Given the description of an element on the screen output the (x, y) to click on. 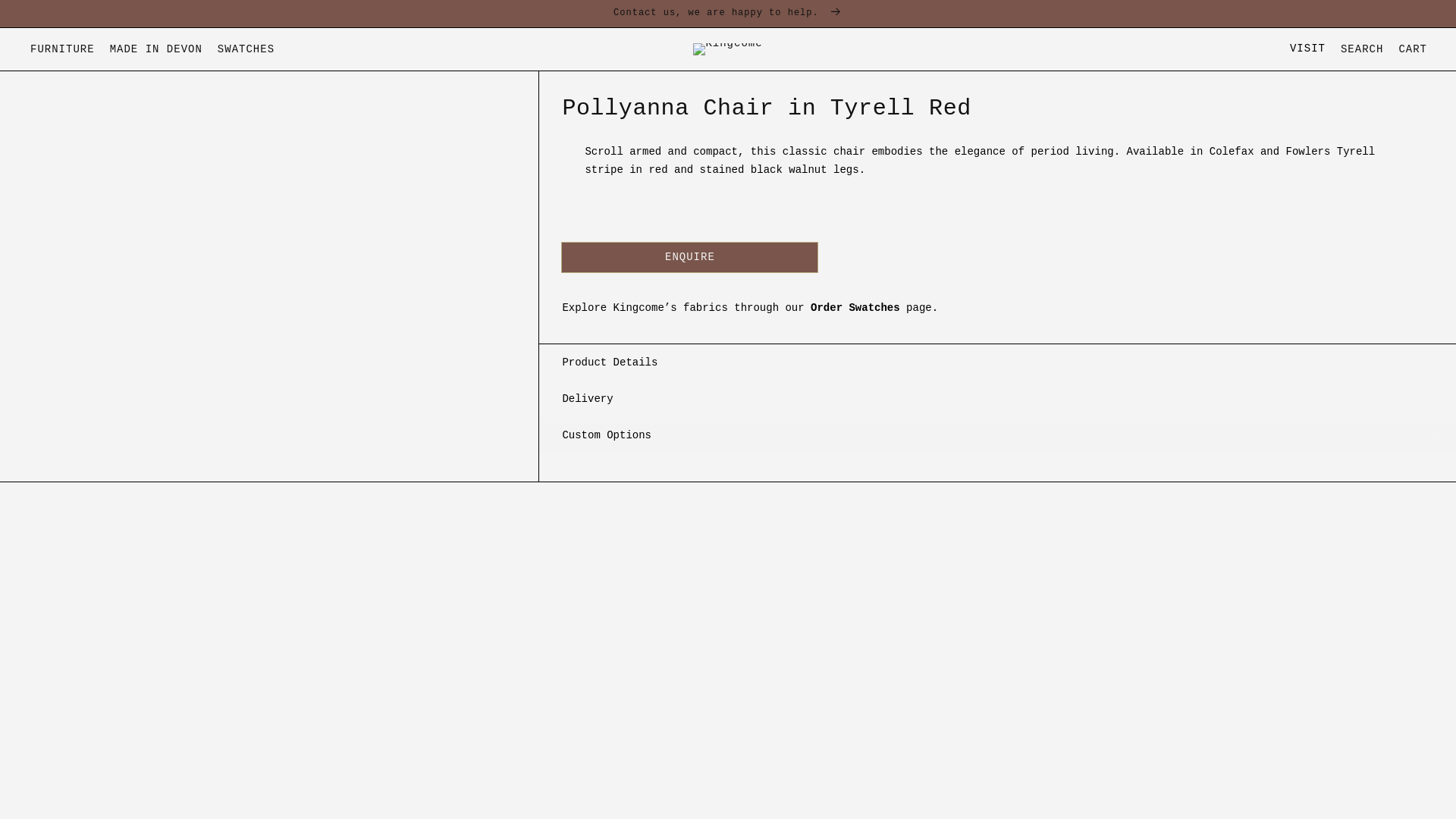
VISIT (1307, 48)
SWATCHES (245, 49)
SKIP TO CONTENT (45, 14)
MADE IN DEVON (156, 49)
SKIP TO PRODUCT INFORMATION (1412, 49)
